Given the description of an element on the screen output the (x, y) to click on. 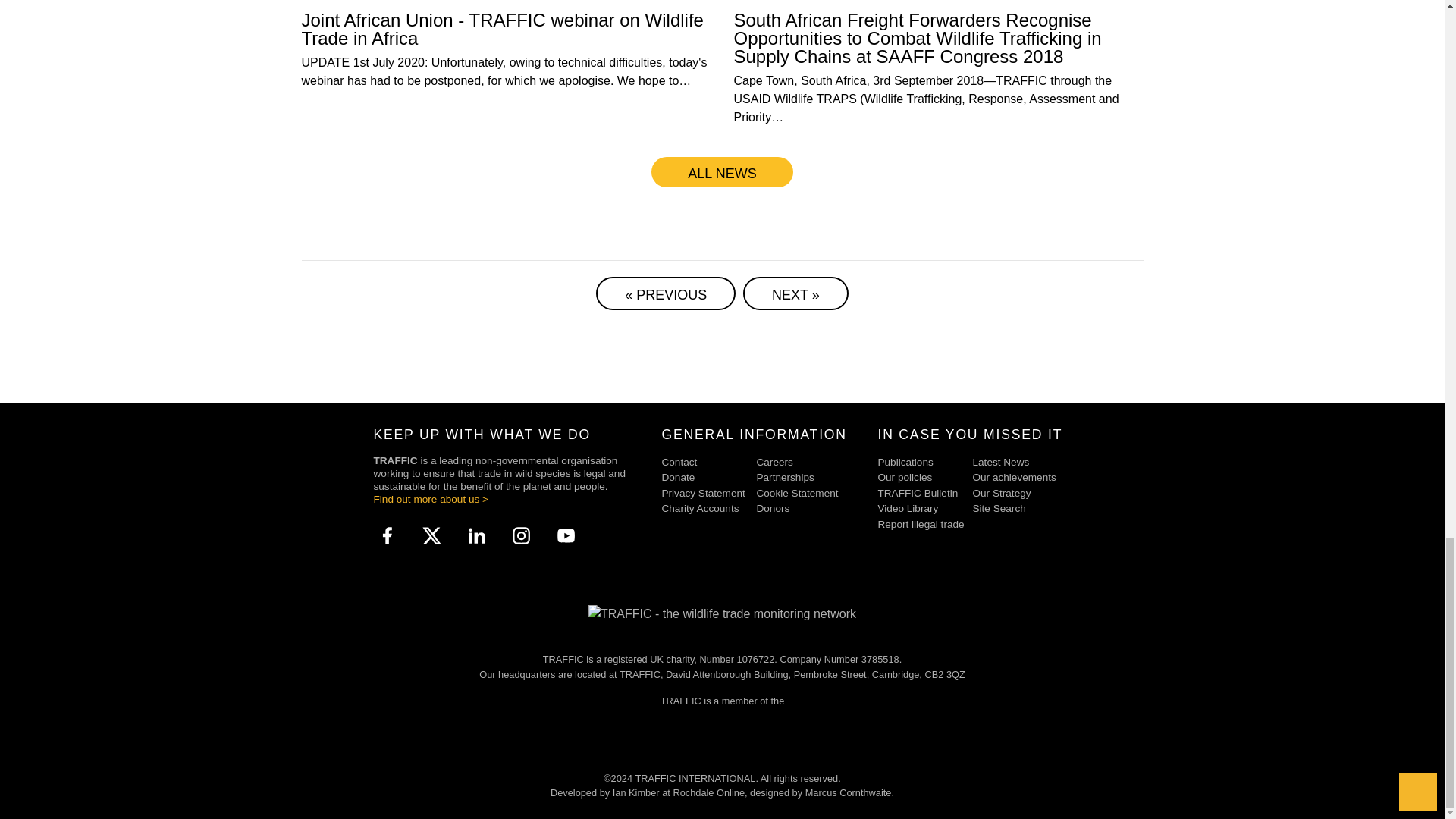
Visit our YouTube Channel (566, 535)
Follow us on Instagram (521, 535)
Charity accounts (708, 508)
Video library (924, 508)
Visit our Facebook Page (386, 535)
Contact us at LinkedIn (476, 535)
10 December 2012: Consumers beware: is your pet legal? (665, 293)
Follow us on Twitter (432, 535)
